Given the description of an element on the screen output the (x, y) to click on. 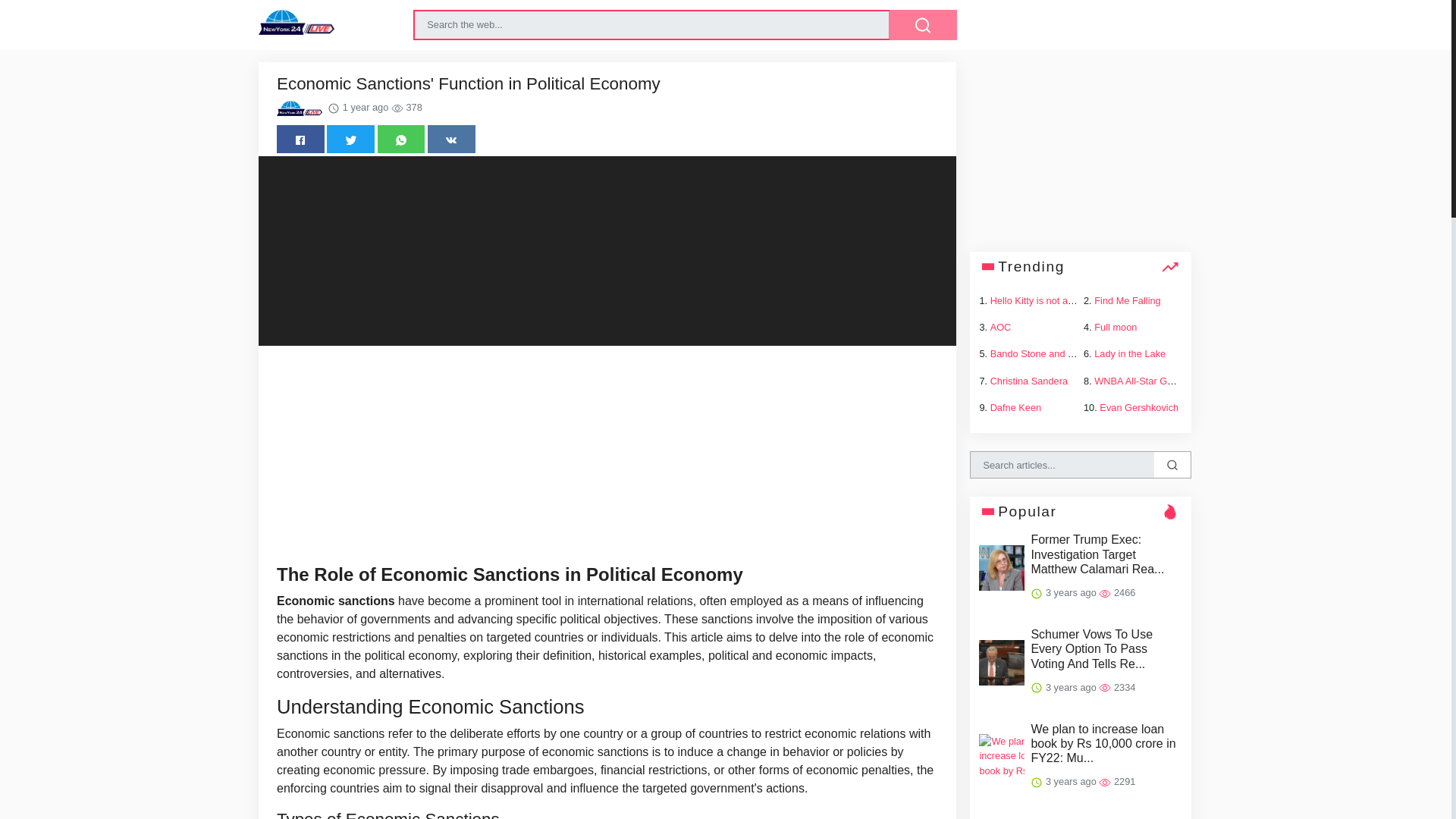
Bando Stone and The New World (1062, 353)
AOC (1000, 326)
Find Me Falling (1127, 300)
Lady in the Lake (1130, 353)
AOC (1000, 326)
Christina Sandera (1028, 379)
Hello Kitty is not a cat (1036, 300)
Share on VK (452, 139)
Share on Twitter (350, 139)
WNBA All-Star Game (1140, 379)
Hello Kitty is not a cat (1036, 300)
Share on Facebook (300, 139)
Bando Stone and The New World (1062, 353)
Advertisement (1080, 156)
